Given the description of an element on the screen output the (x, y) to click on. 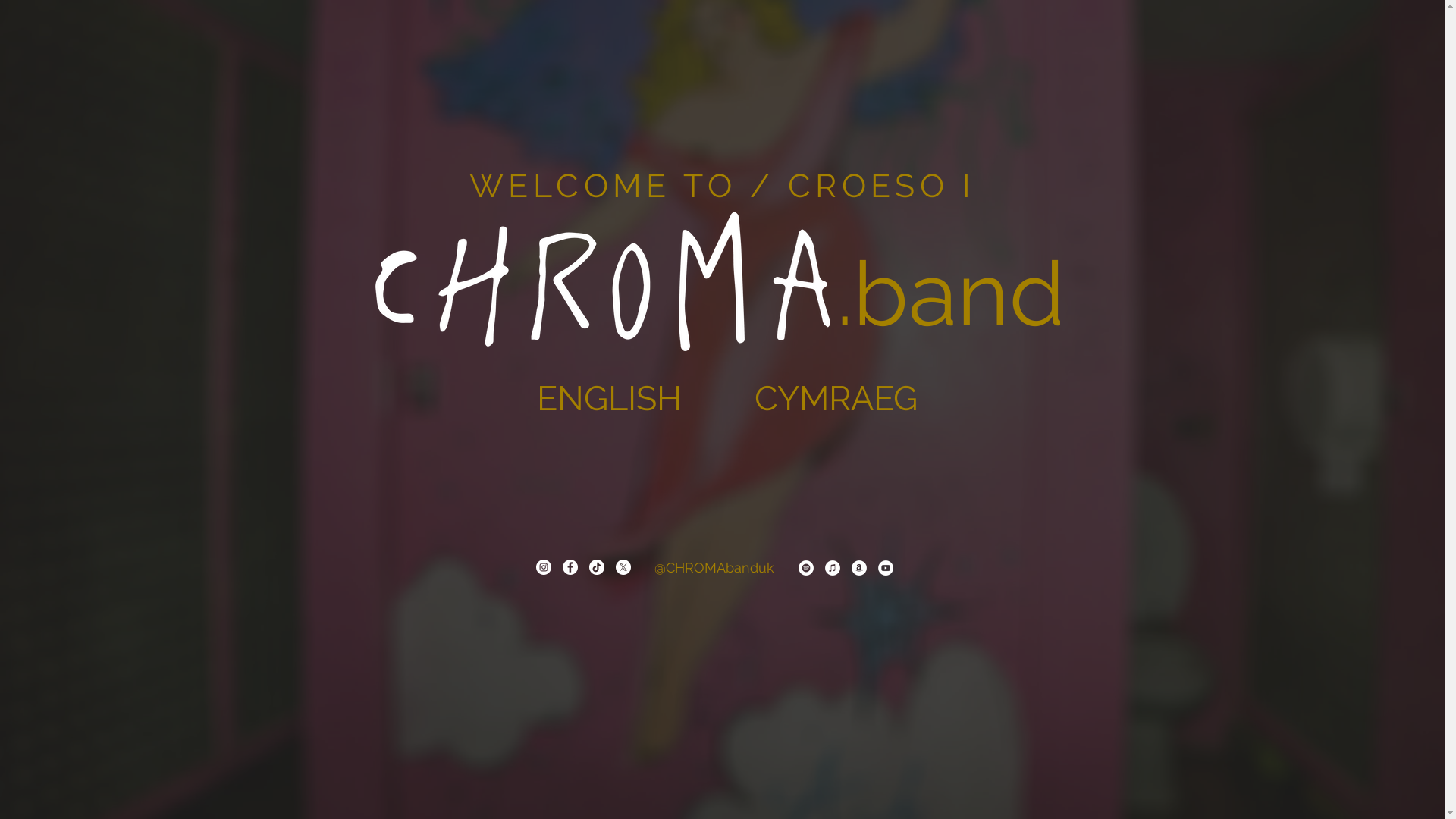
ENGLISH Element type: text (608, 398)
CYMRAEG Element type: text (836, 398)
